Given the description of an element on the screen output the (x, y) to click on. 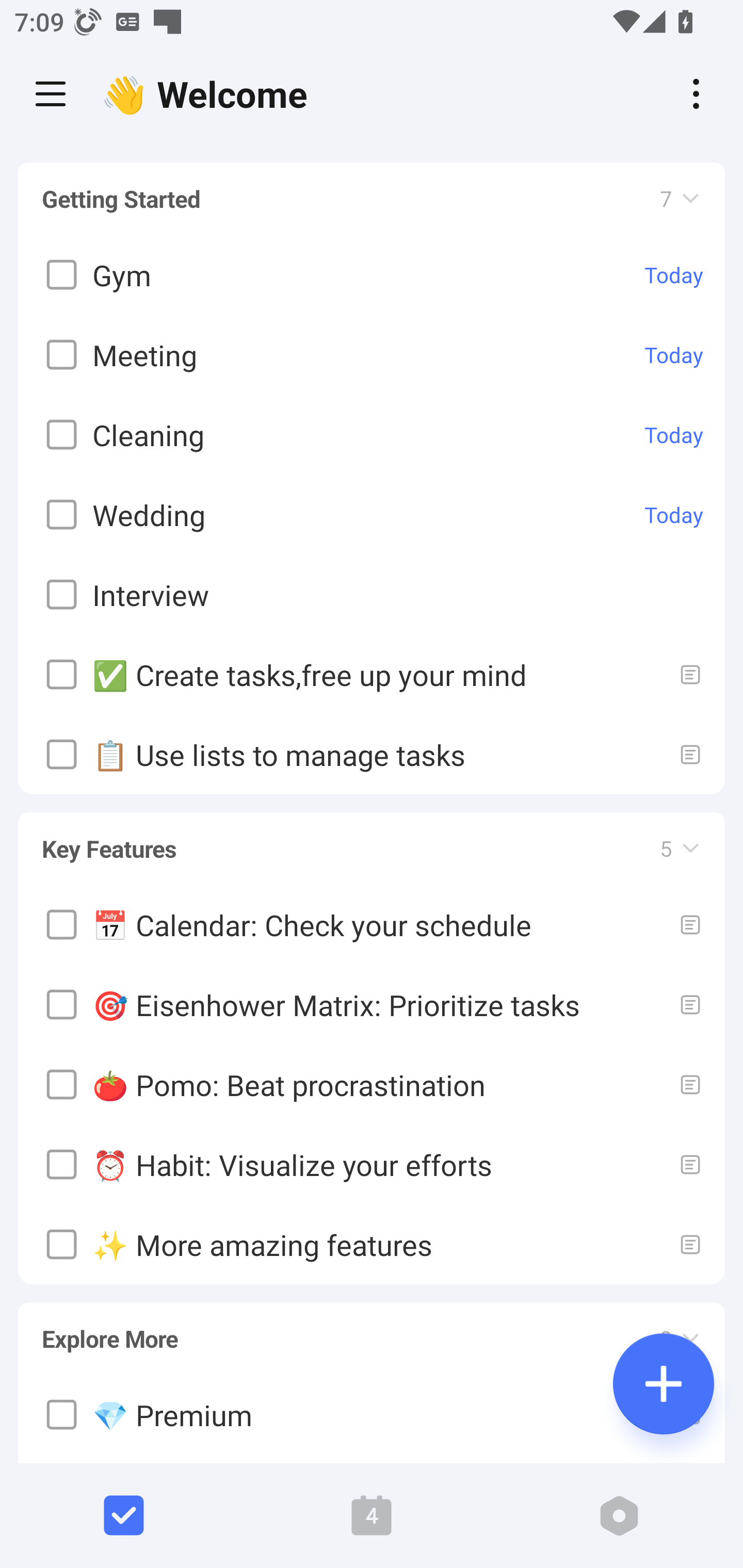
👋 Welcome (209, 93)
Getting Started 7 (371, 199)
Gym Today (371, 275)
Today (673, 275)
Meeting Today (371, 355)
Today (673, 355)
Cleaning Today (371, 435)
Today (673, 435)
Wedding Today (371, 515)
Today (673, 514)
Interview (371, 595)
✅ Create tasks,free up your mind (371, 675)
📋 Use lists to manage tasks (371, 754)
Key Features 5 (371, 839)
📅 Calendar: Check your schedule (371, 924)
🎯 Eisenhower Matrix: Prioritize tasks (371, 1004)
🍅 Pomo: Beat procrastination (371, 1084)
⏰ Habit: Visualize your efforts (371, 1164)
✨ More amazing features (371, 1244)
Explore More 2 (371, 1329)
💎 Premium (371, 1415)
